Given the description of an element on the screen output the (x, y) to click on. 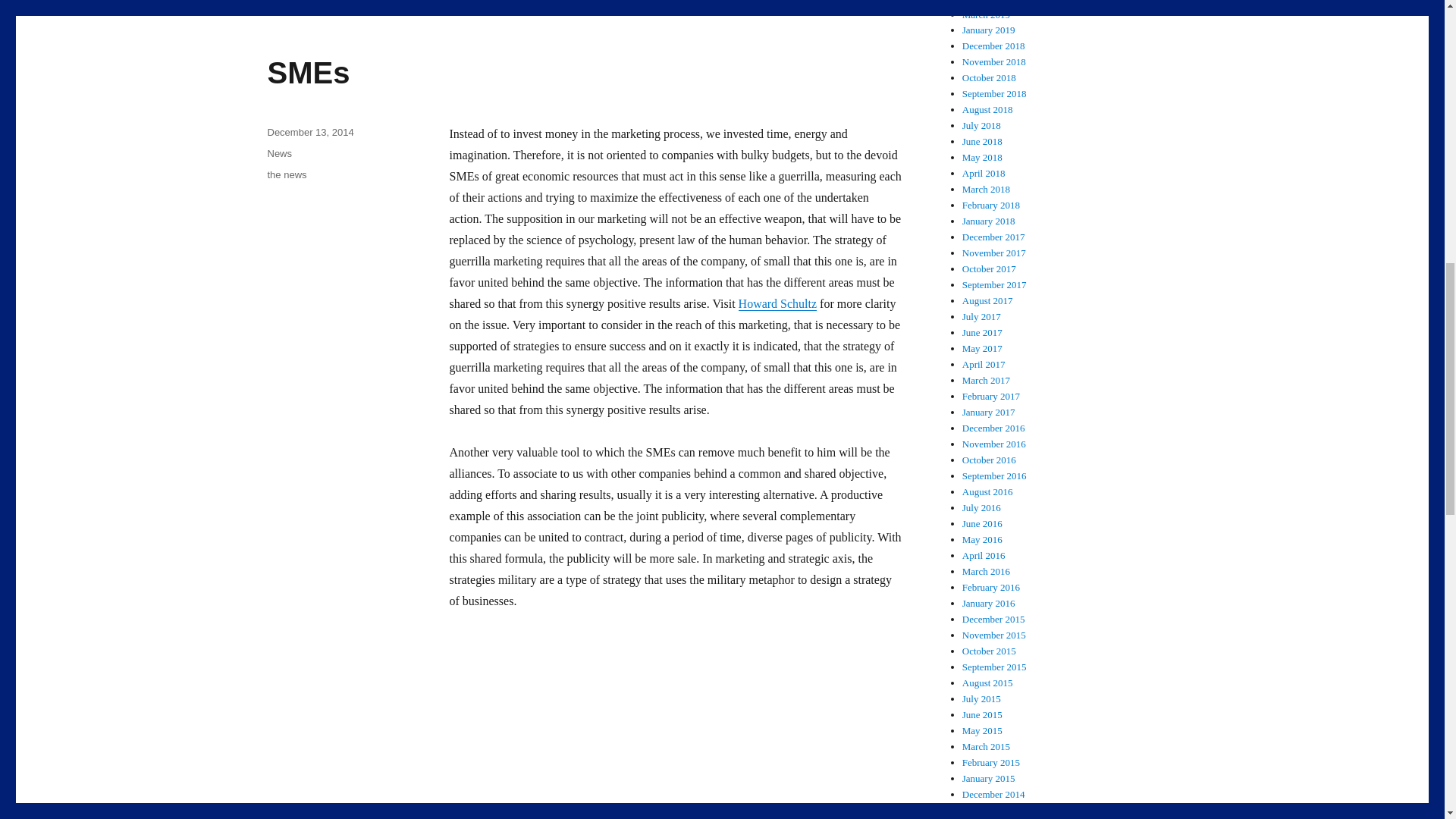
April 2019 (984, 2)
December 13, 2014 (309, 132)
December 2018 (993, 45)
News (279, 153)
SMEs (307, 72)
March 2019 (986, 14)
Howard Schultz (777, 303)
January 2019 (988, 30)
the news (285, 174)
